Given the description of an element on the screen output the (x, y) to click on. 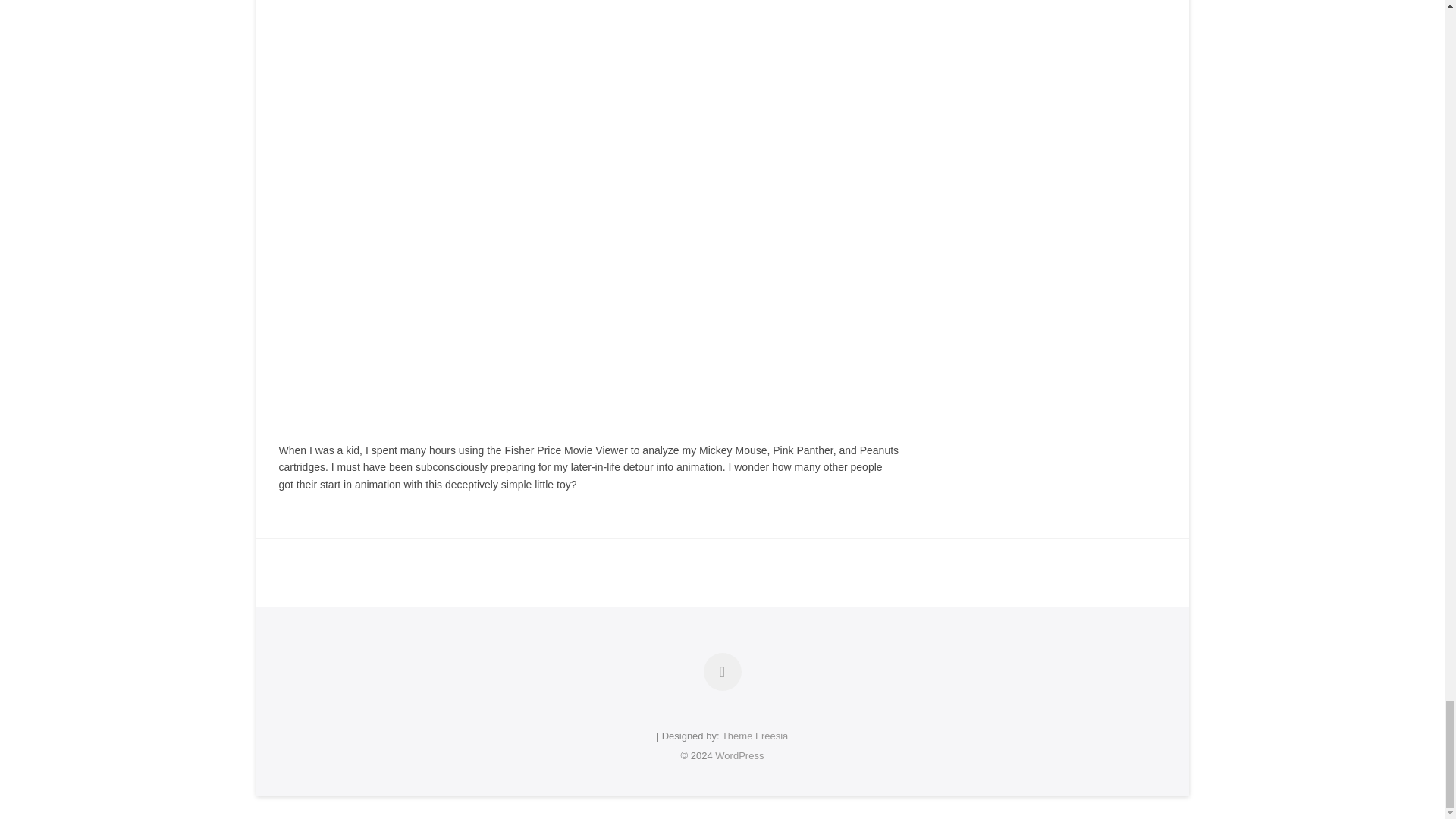
Theme Freesia (754, 736)
WordPress (738, 755)
